Given the description of an element on the screen output the (x, y) to click on. 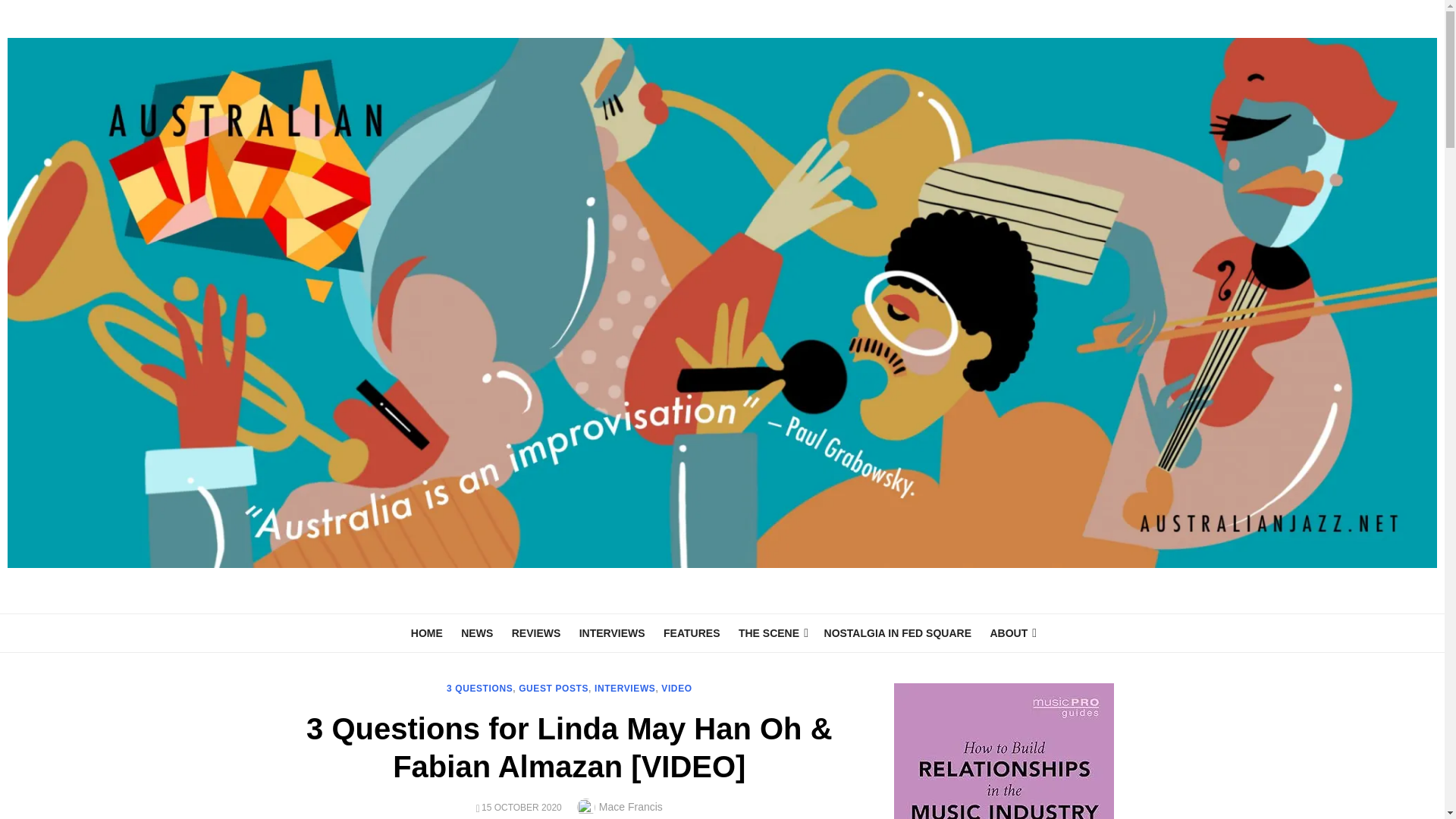
THE SCENE (771, 633)
NEWS (476, 633)
HOME (426, 633)
INTERVIEWS (612, 633)
REVIEWS (536, 633)
FEATURES (691, 633)
